Given the description of an element on the screen output the (x, y) to click on. 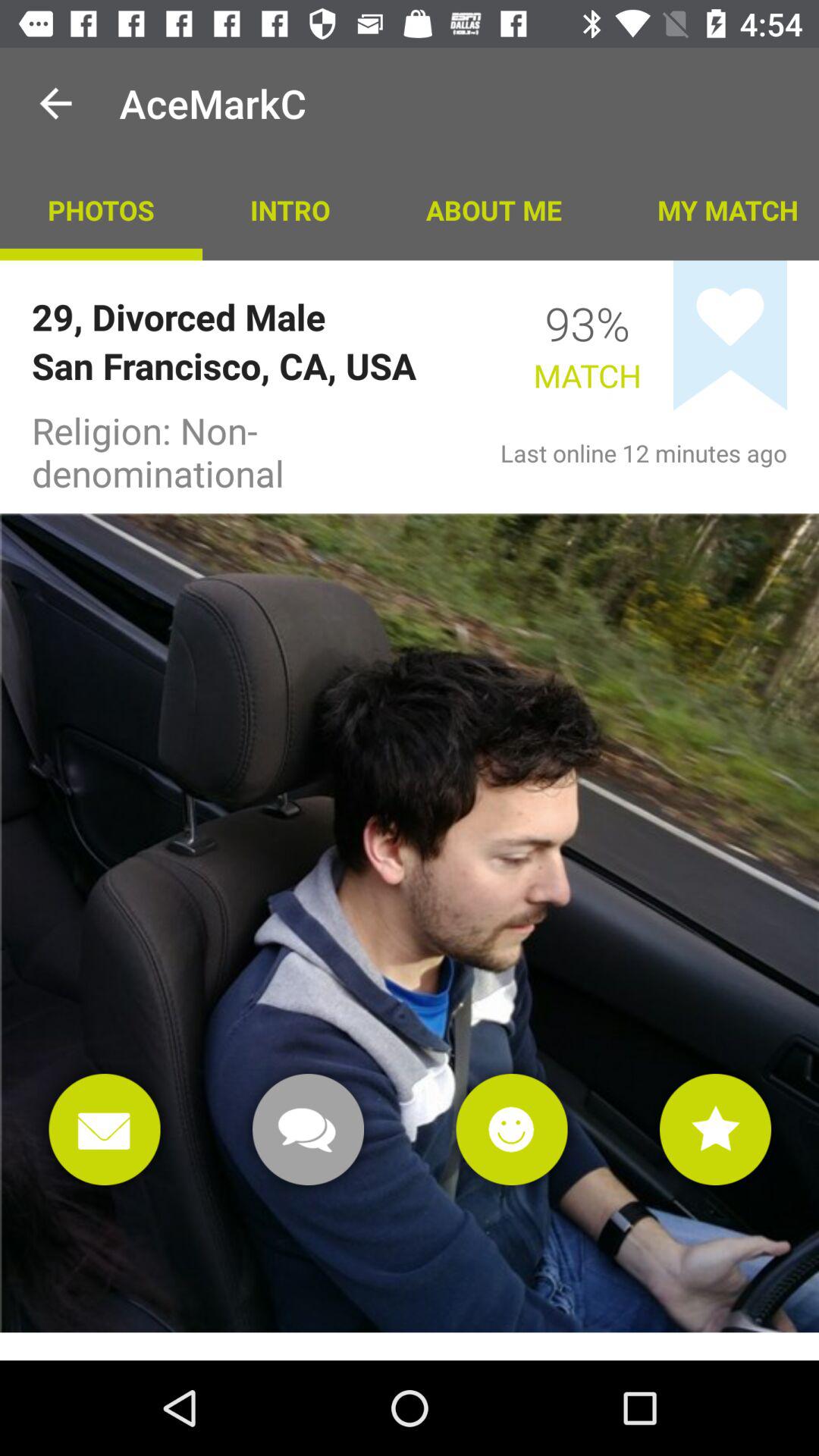
choose my match app (714, 209)
